Given the description of an element on the screen output the (x, y) to click on. 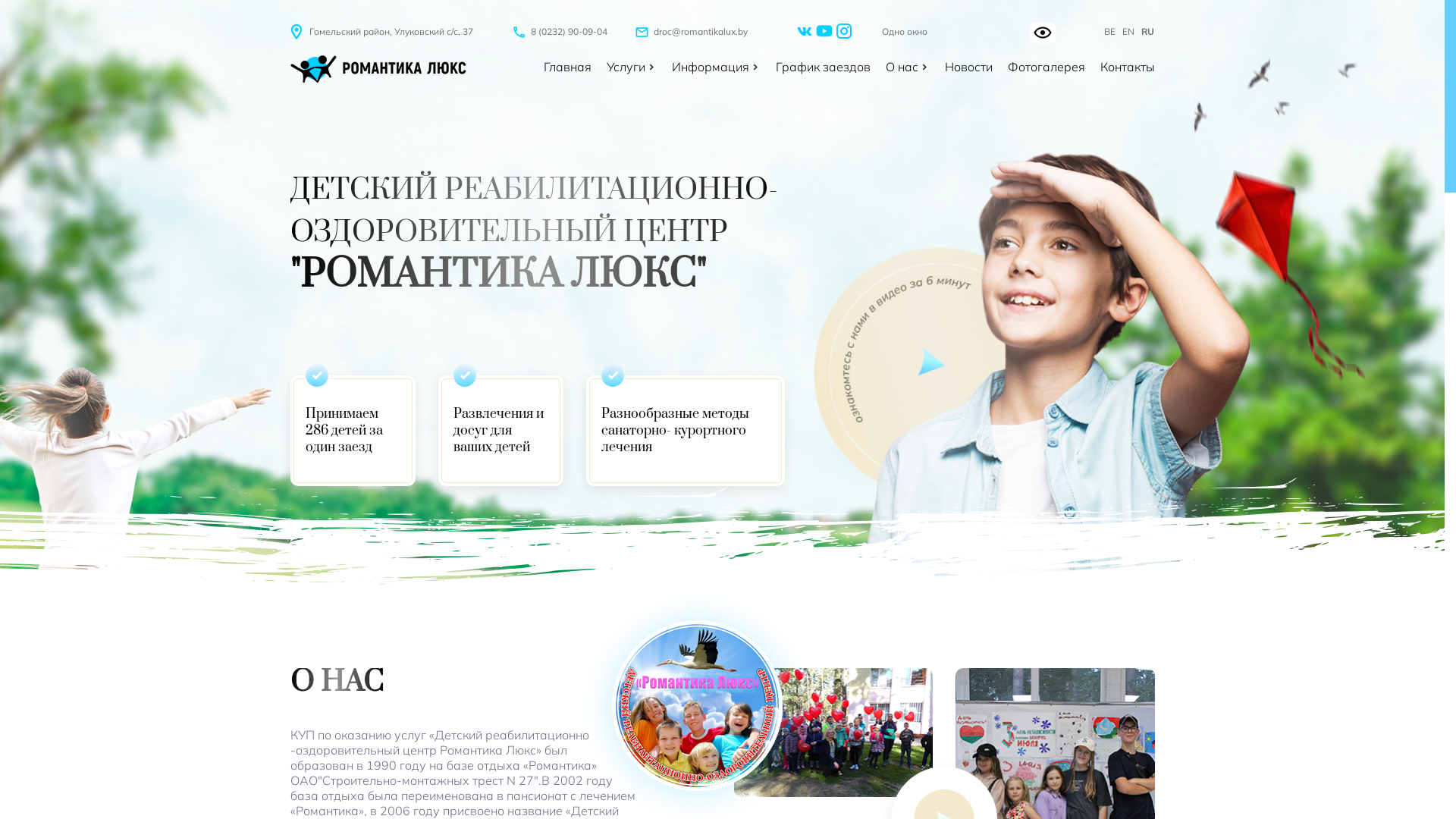
RU Element type: text (1147, 31)
droc@romantikalux.by Element type: text (690, 31)
8 (0232) 90-09-04 Element type: text (559, 31)
EN Element type: text (1128, 31)
BE Element type: text (1109, 31)
